Given the description of an element on the screen output the (x, y) to click on. 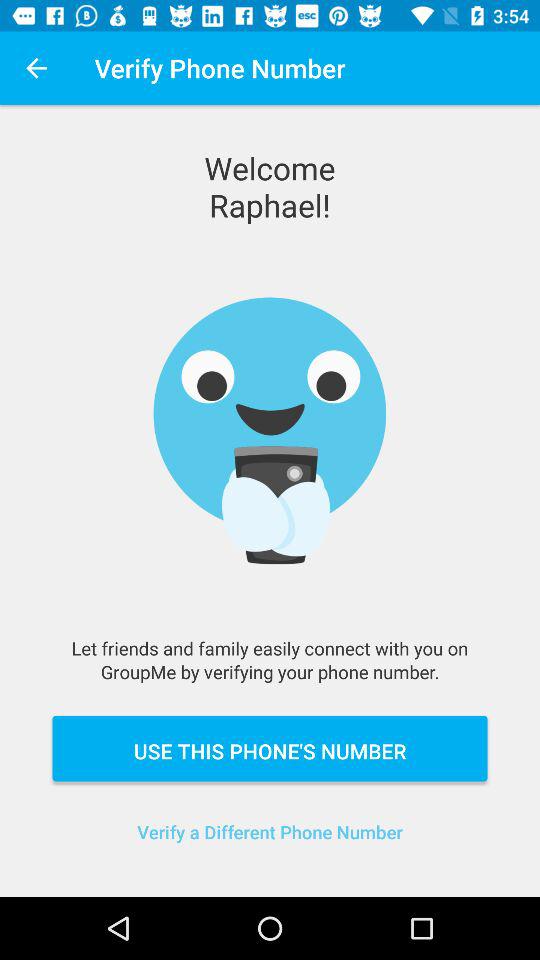
click use this phone (269, 748)
